Given the description of an element on the screen output the (x, y) to click on. 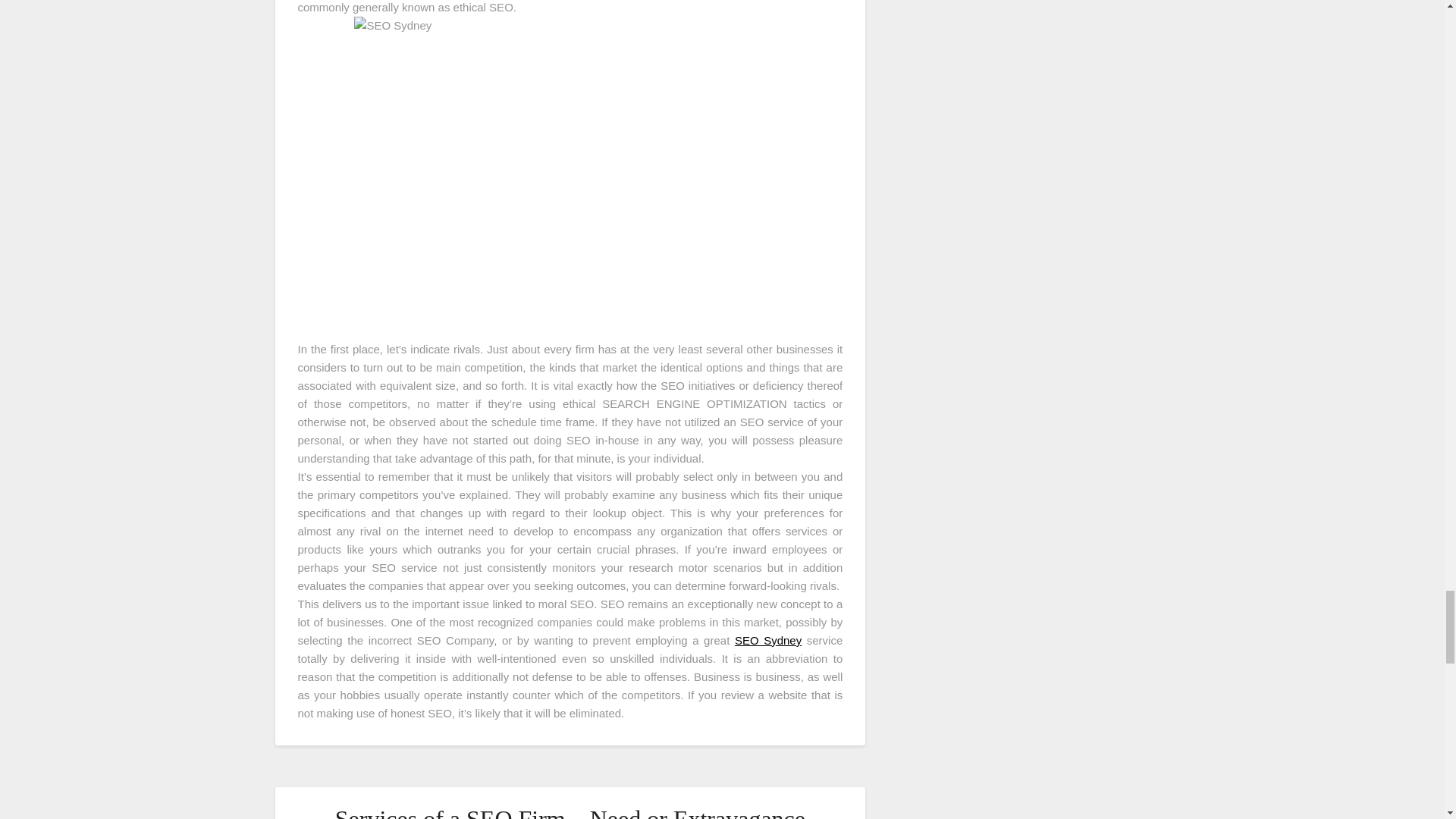
SEO Sydney (768, 640)
